Given the description of an element on the screen output the (x, y) to click on. 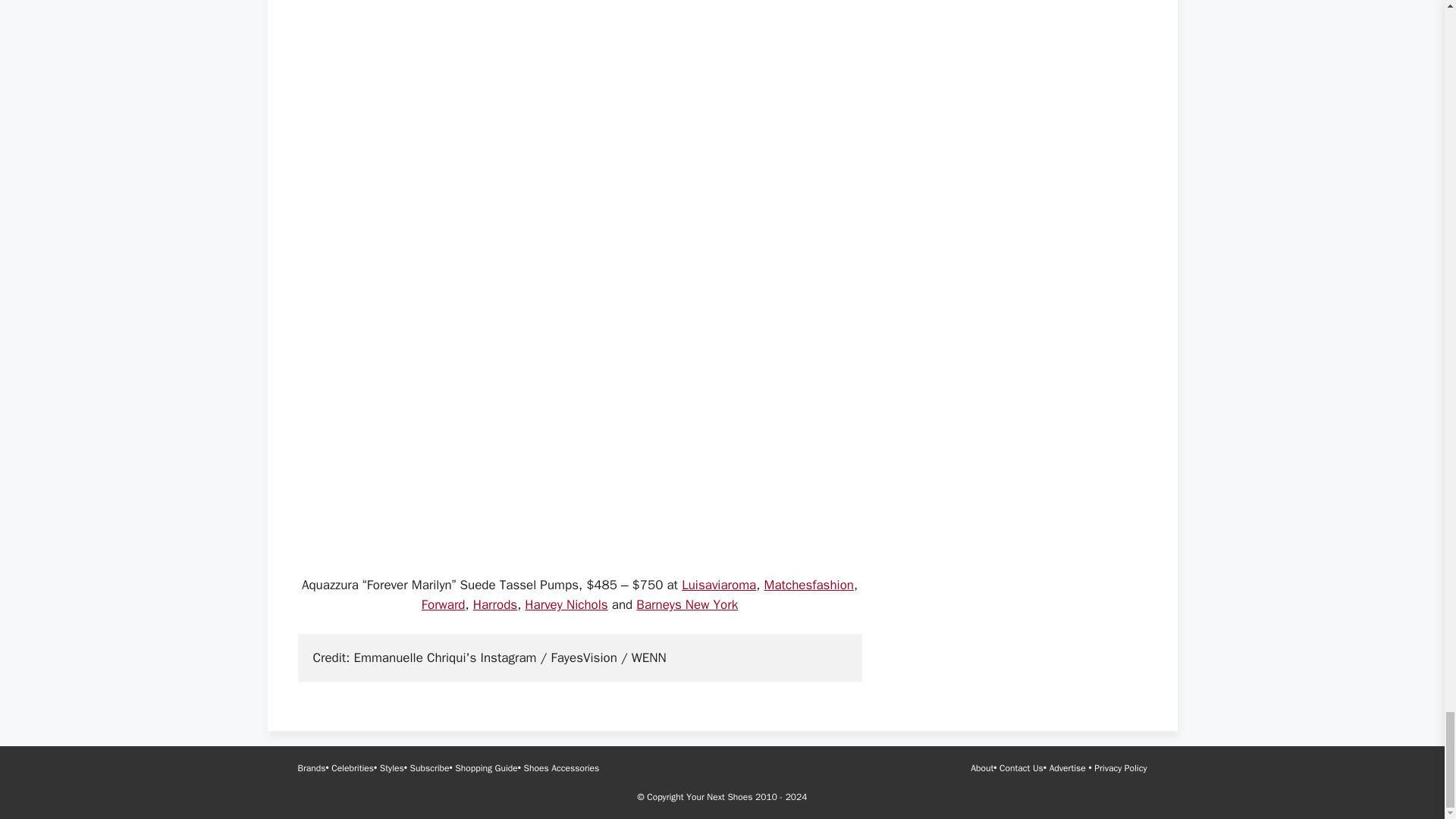
Harvey Nichols (565, 604)
Luisaviaroma (718, 584)
Forward (443, 604)
Matchesfashion (807, 584)
Barneys New York (687, 604)
Harrods (494, 604)
